Given the description of an element on the screen output the (x, y) to click on. 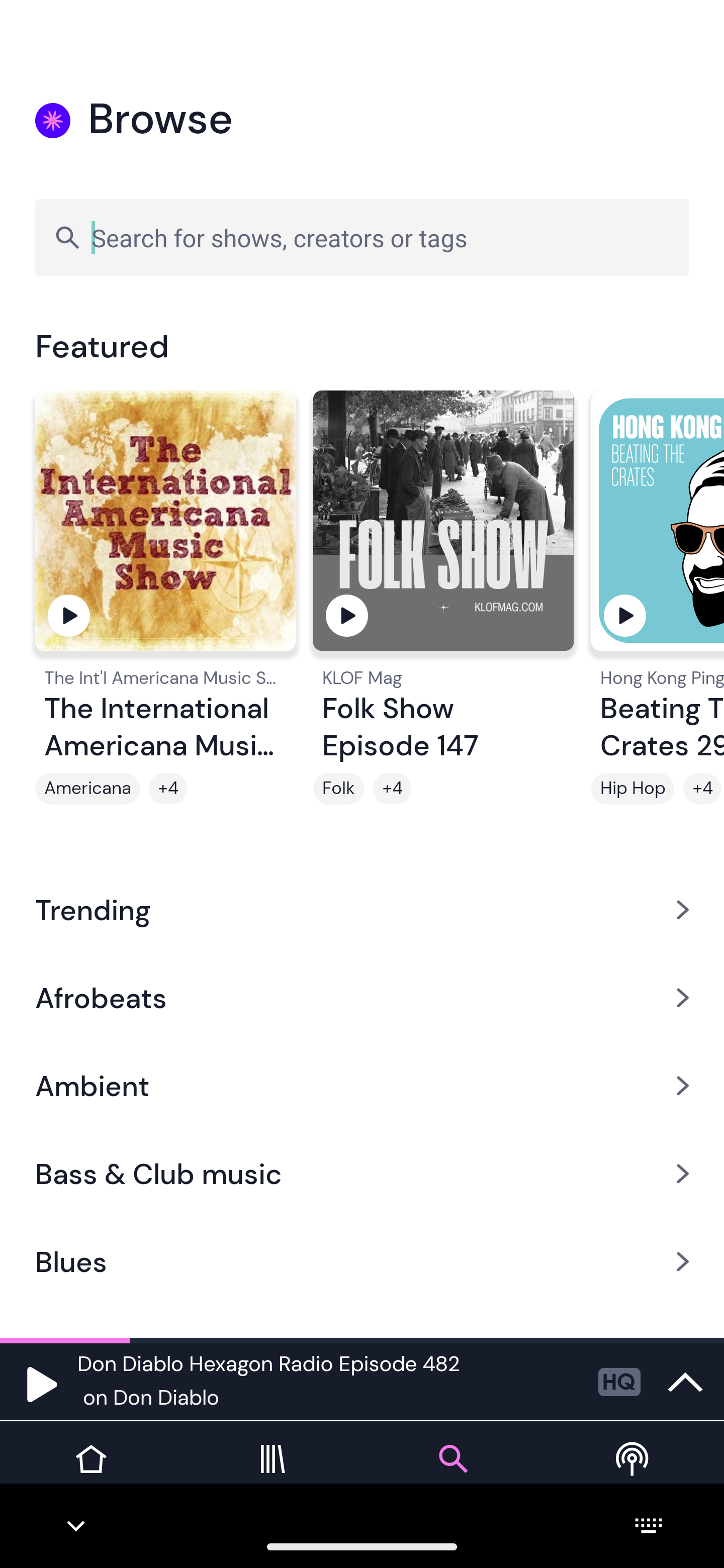
Search for shows, creators or tags (361, 237)
Americana (87, 788)
Folk (338, 788)
Hip Hop (632, 788)
Trending (361, 909)
Afrobeats (361, 997)
Ambient (361, 1085)
Bass & Club music (361, 1174)
Blues (361, 1262)
Home tab (90, 1473)
Library tab (271, 1473)
Browse tab (452, 1473)
Live tab (633, 1473)
